Given the description of an element on the screen output the (x, y) to click on. 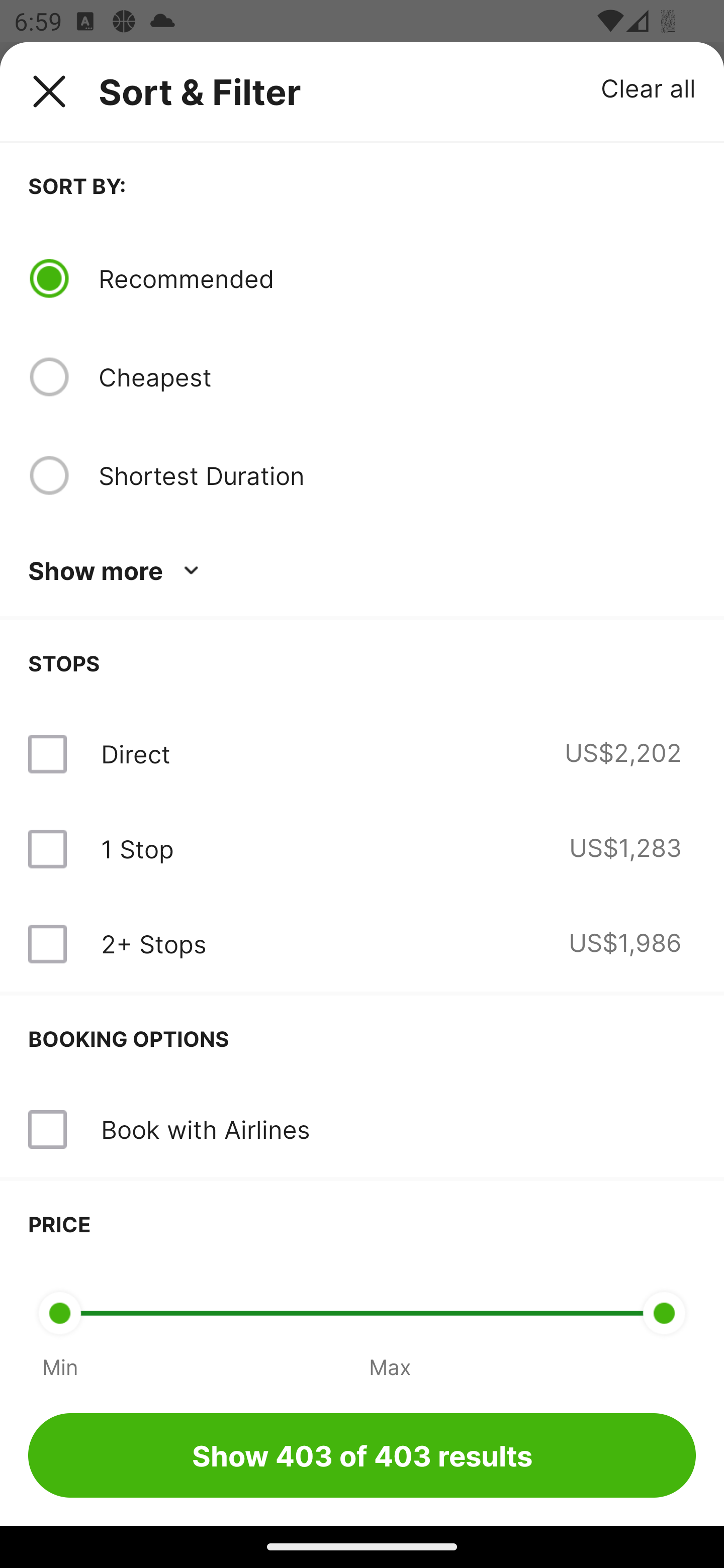
Clear all (648, 87)
Recommended  (396, 278)
Cheapest (396, 377)
Shortest Duration (396, 474)
Show more (116, 570)
Direct US$2,202 (362, 754)
Direct (135, 753)
1 Stop US$1,283 (362, 848)
1 Stop (136, 849)
2+ Stops US$1,986 (362, 943)
2+ Stops (153, 943)
Book with Airlines (362, 1129)
Book with Airlines (204, 1128)
Show 403 of 403 results (361, 1454)
